Given the description of an element on the screen output the (x, y) to click on. 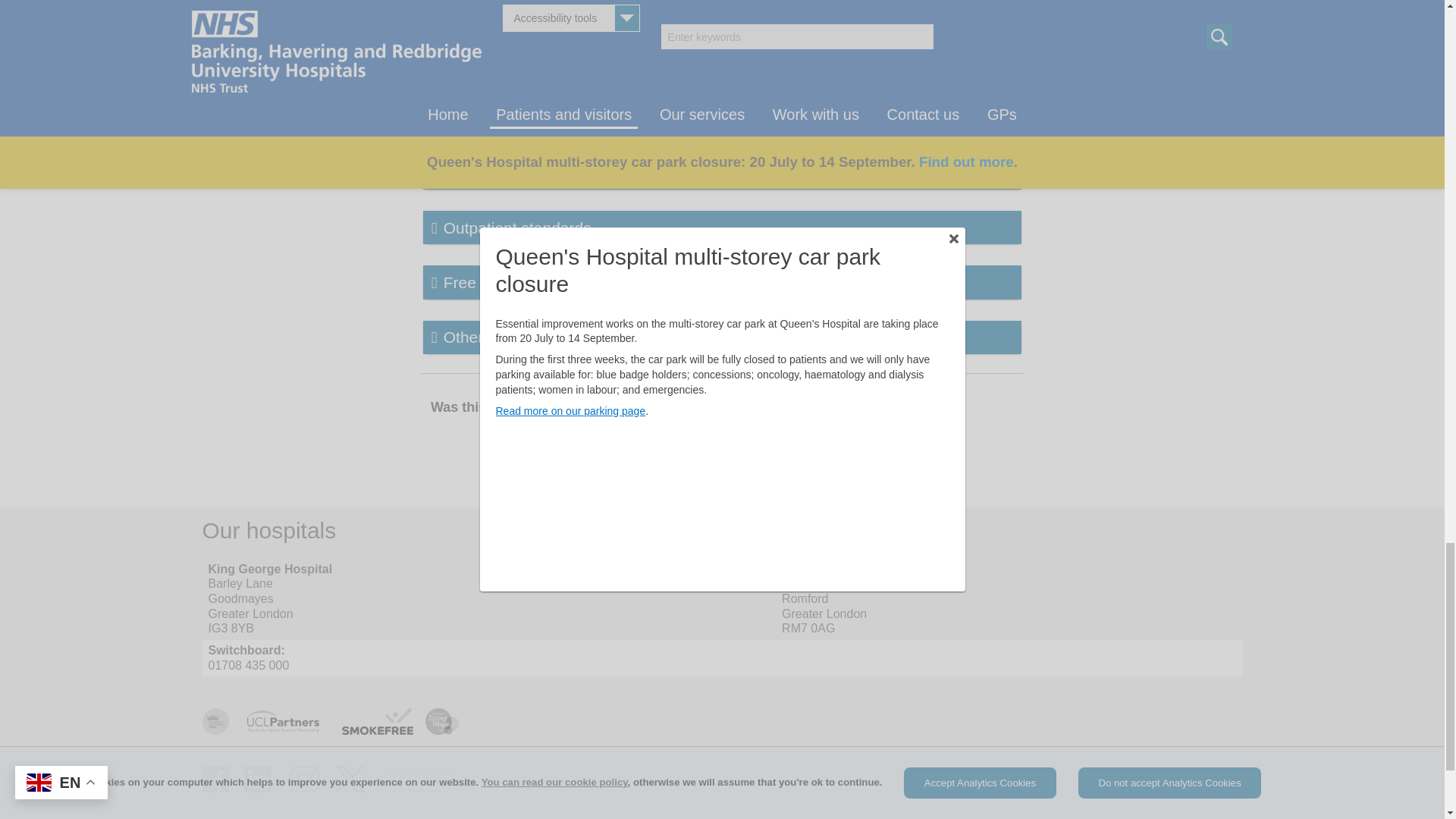
Cancel your appointment (514, 124)
After your appointment (508, 107)
After your appointment (508, 107)
Before your first appointment or test (543, 72)
Before your first appointment or test (543, 72)
Cancel your appointment (514, 124)
Submit Feedback (804, 410)
During your appointment (512, 90)
During your appointment (512, 90)
Outpatient standards (722, 227)
Free text messaging reminder service (722, 281)
